Given the description of an element on the screen output the (x, y) to click on. 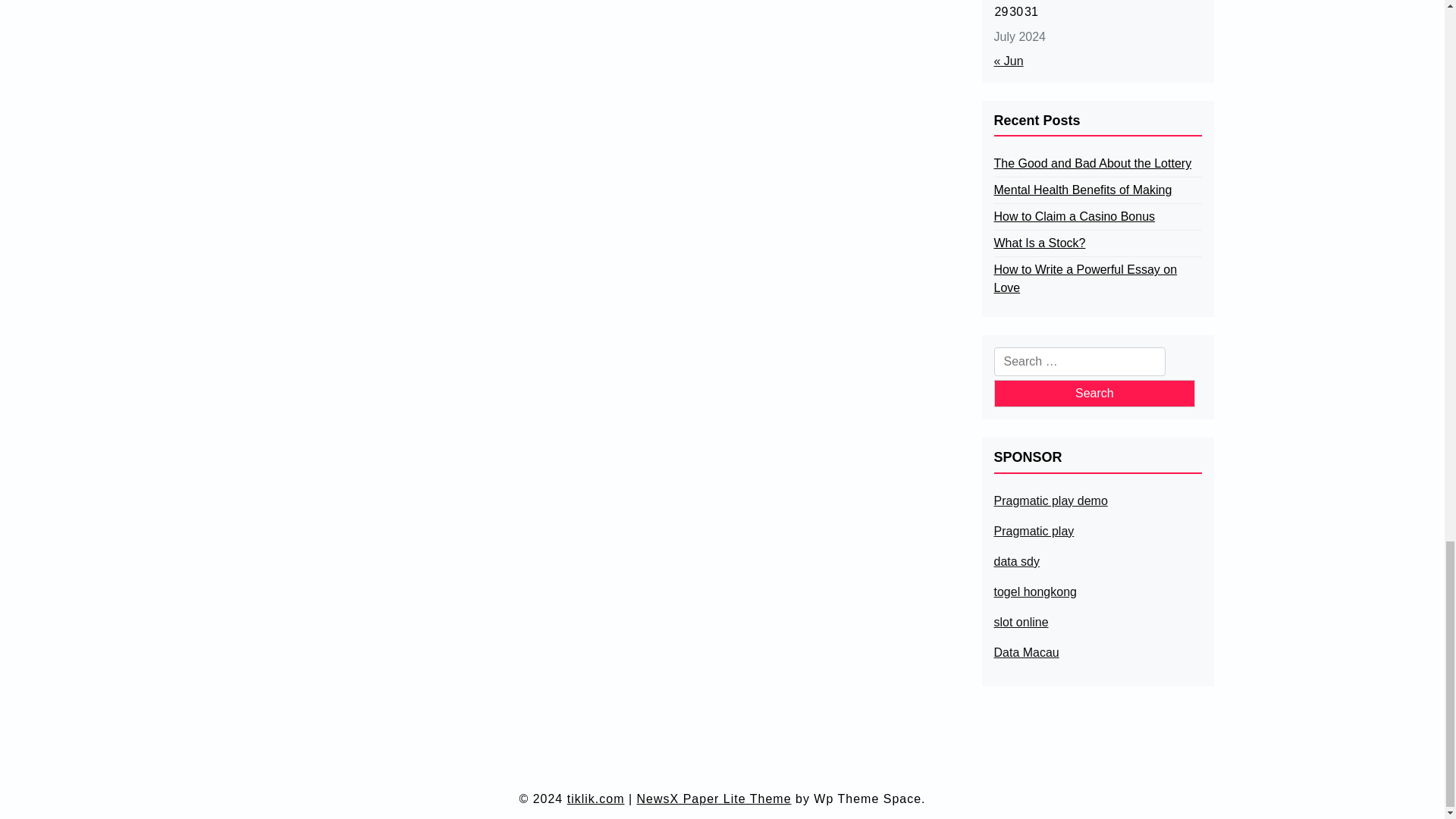
Search (1093, 393)
Search (1093, 393)
